Given the description of an element on the screen output the (x, y) to click on. 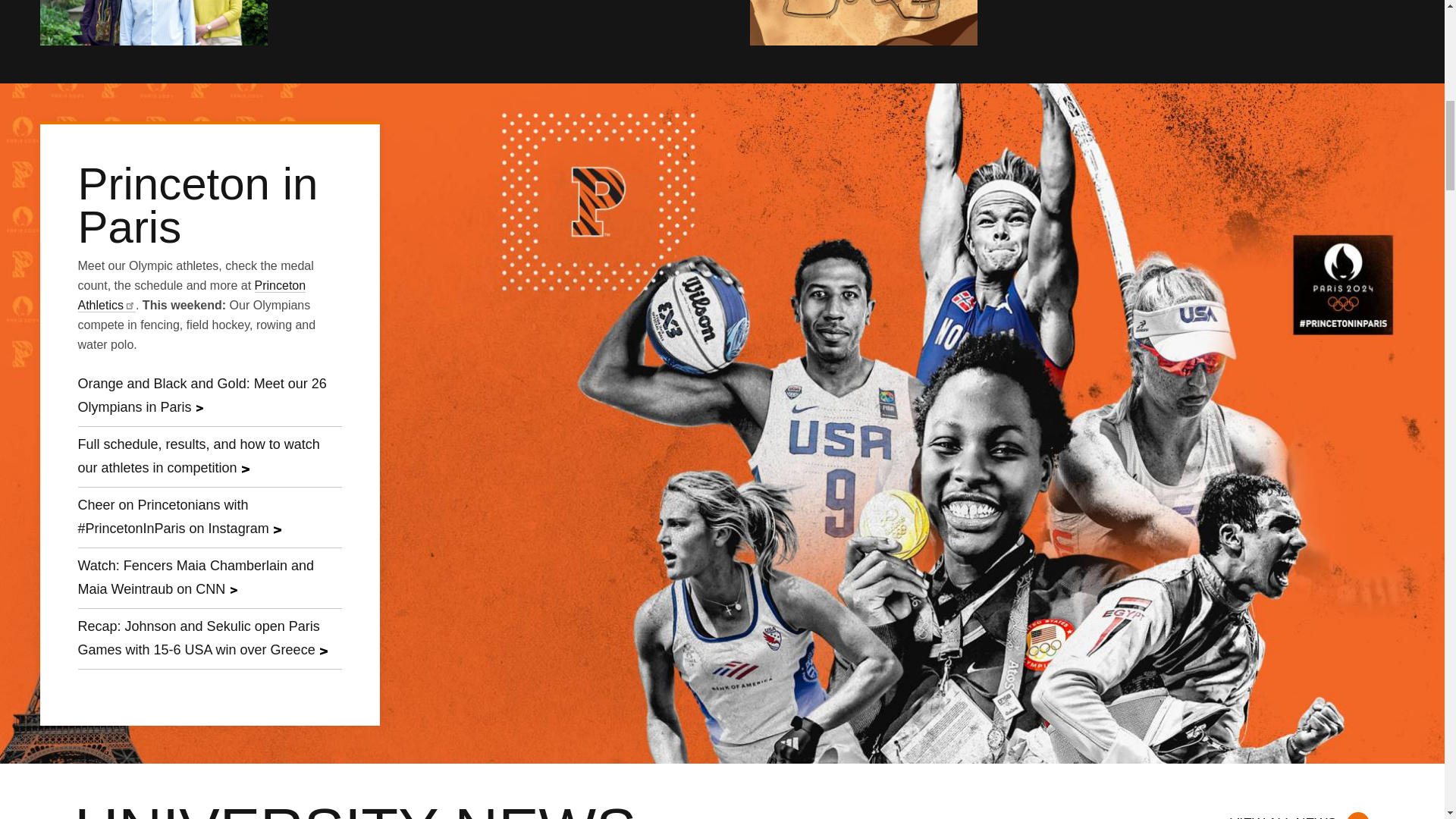
Princeton Athletics (191, 295)
Watch: Fencers Maia Chamberlain and Maia Weintraub on CNN (208, 577)
Orange and Black and Gold: Meet our 26 Olympians in Paris (208, 396)
VIEW ALL NEWS (1298, 810)
